Given the description of an element on the screen output the (x, y) to click on. 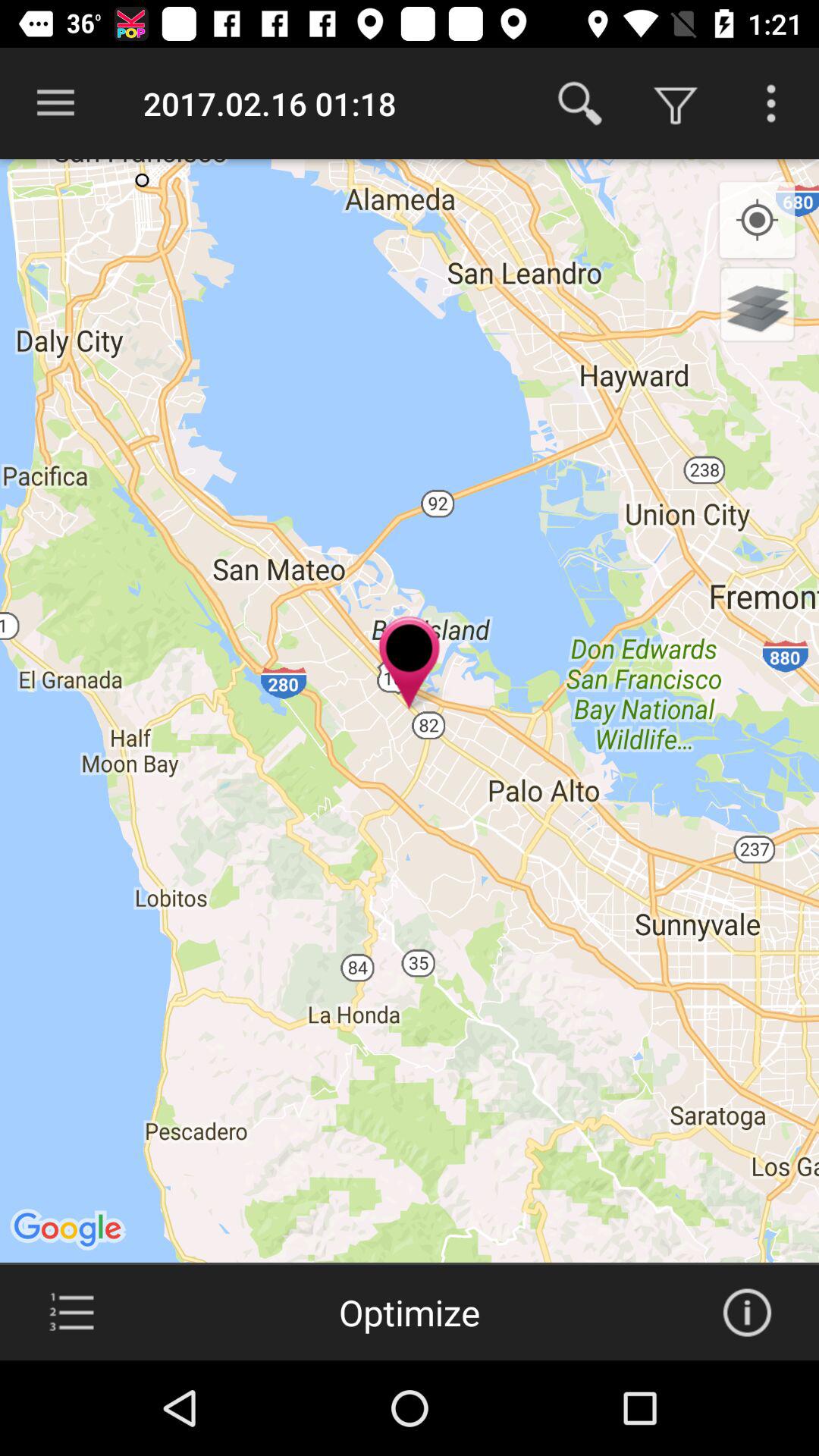
show information (747, 1312)
